Given the description of an element on the screen output the (x, y) to click on. 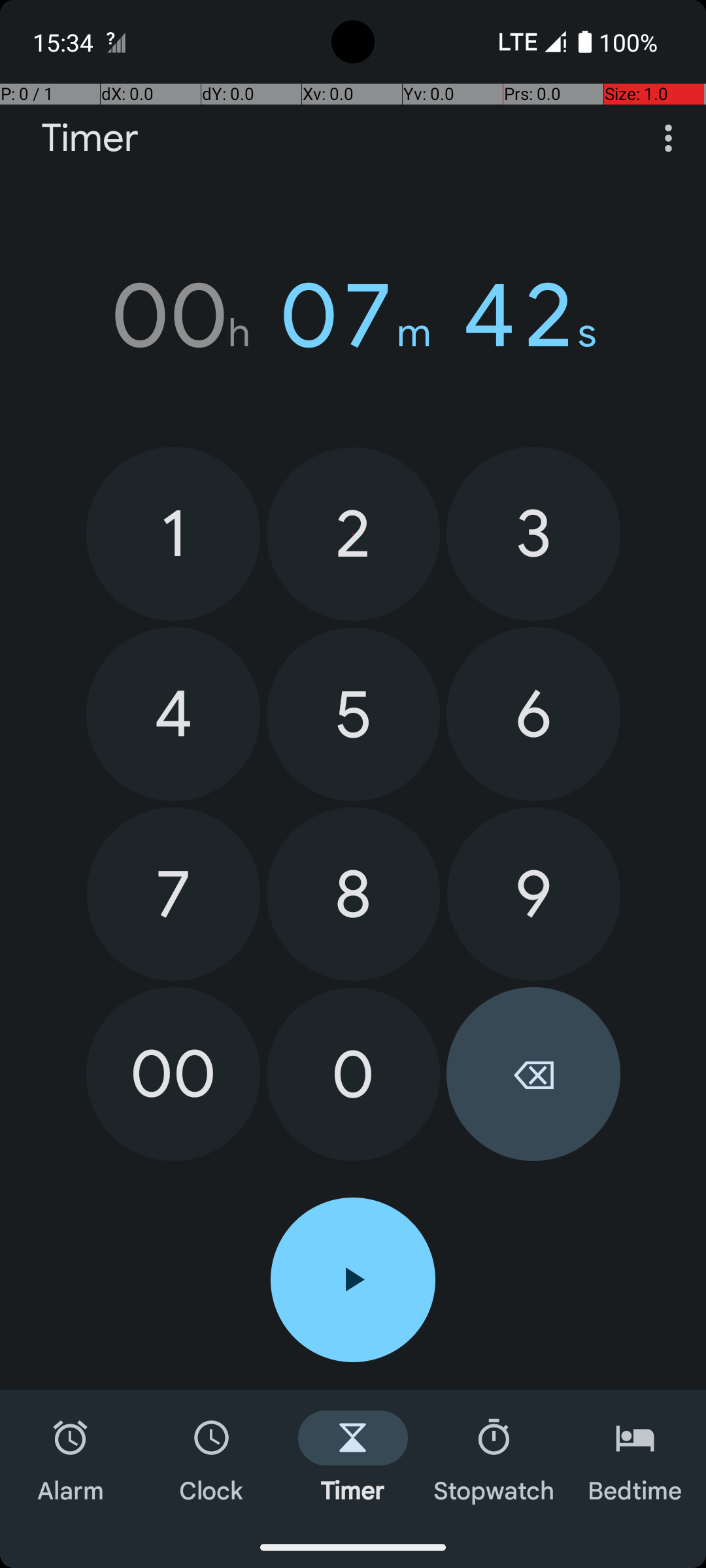
00h 07m 42s Element type: android.widget.TextView (353, 315)
